Given the description of an element on the screen output the (x, y) to click on. 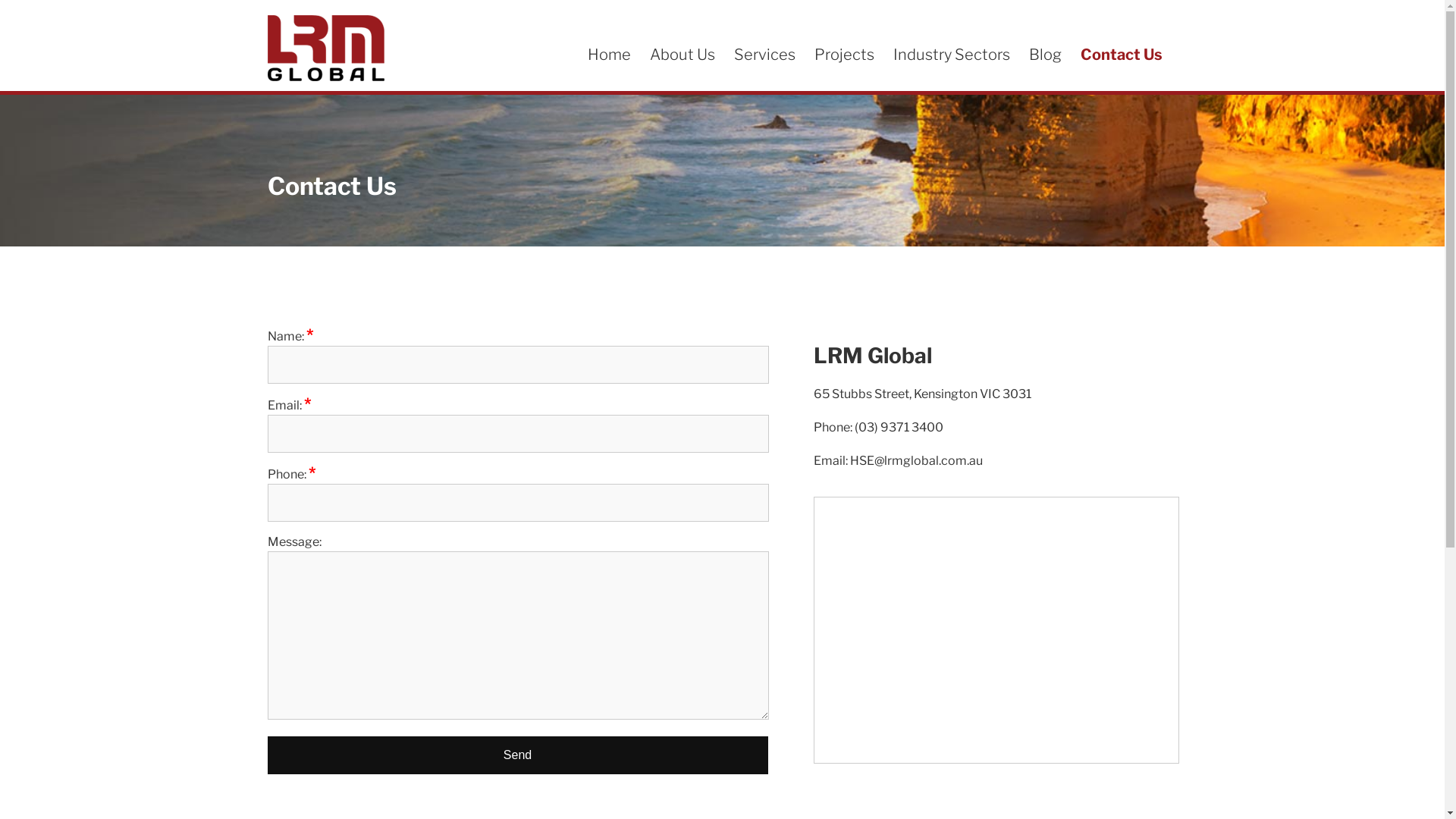
Industry Sectors Element type: text (950, 54)
Send Element type: text (516, 755)
Projects Element type: text (843, 54)
Blog Element type: text (1045, 54)
Contact Us Element type: text (1121, 54)
Services Element type: text (763, 54)
About Us Element type: text (682, 54)
Home Element type: text (608, 54)
